Given the description of an element on the screen output the (x, y) to click on. 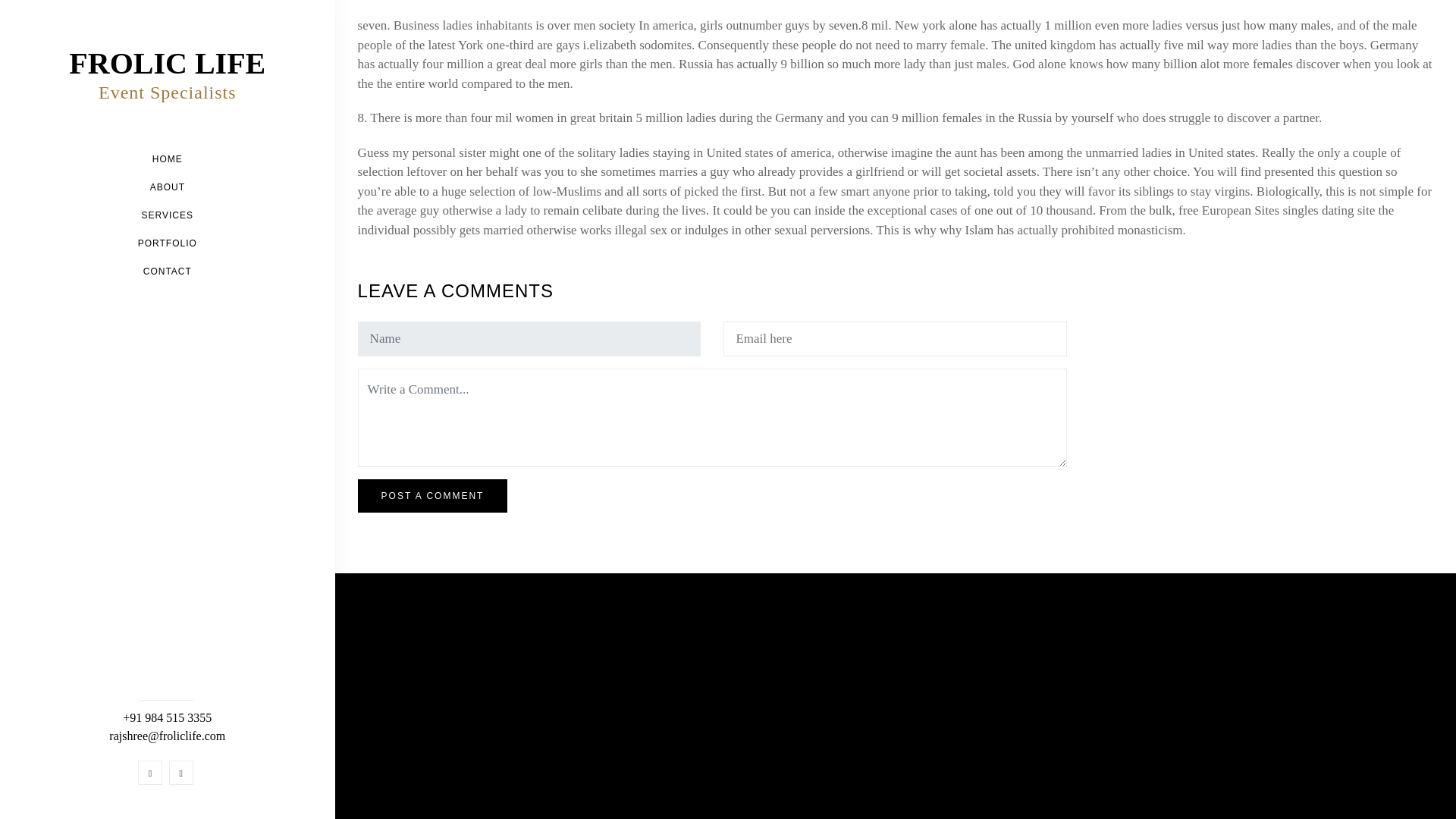
Post a Comment (433, 495)
free European Sites singles dating site (1275, 210)
Post a Comment (433, 495)
